Given the description of an element on the screen output the (x, y) to click on. 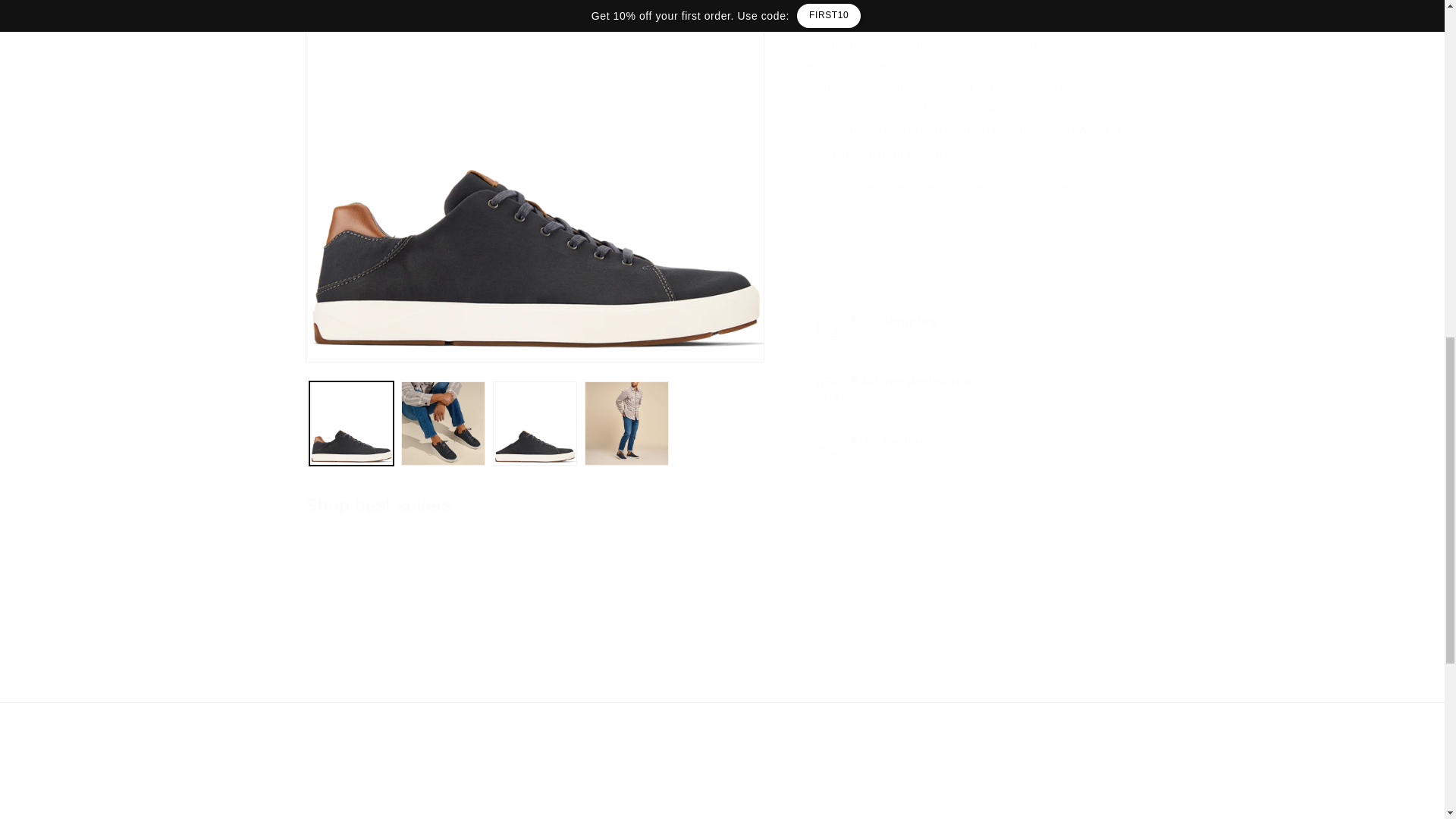
Trippen (371, 644)
Kork-Ease (931, 644)
Shop best sellers (406, 814)
Cydwoq (377, 504)
Blundstone (792, 644)
Pantanetti (512, 644)
Lemargo (652, 644)
